Given the description of an element on the screen output the (x, y) to click on. 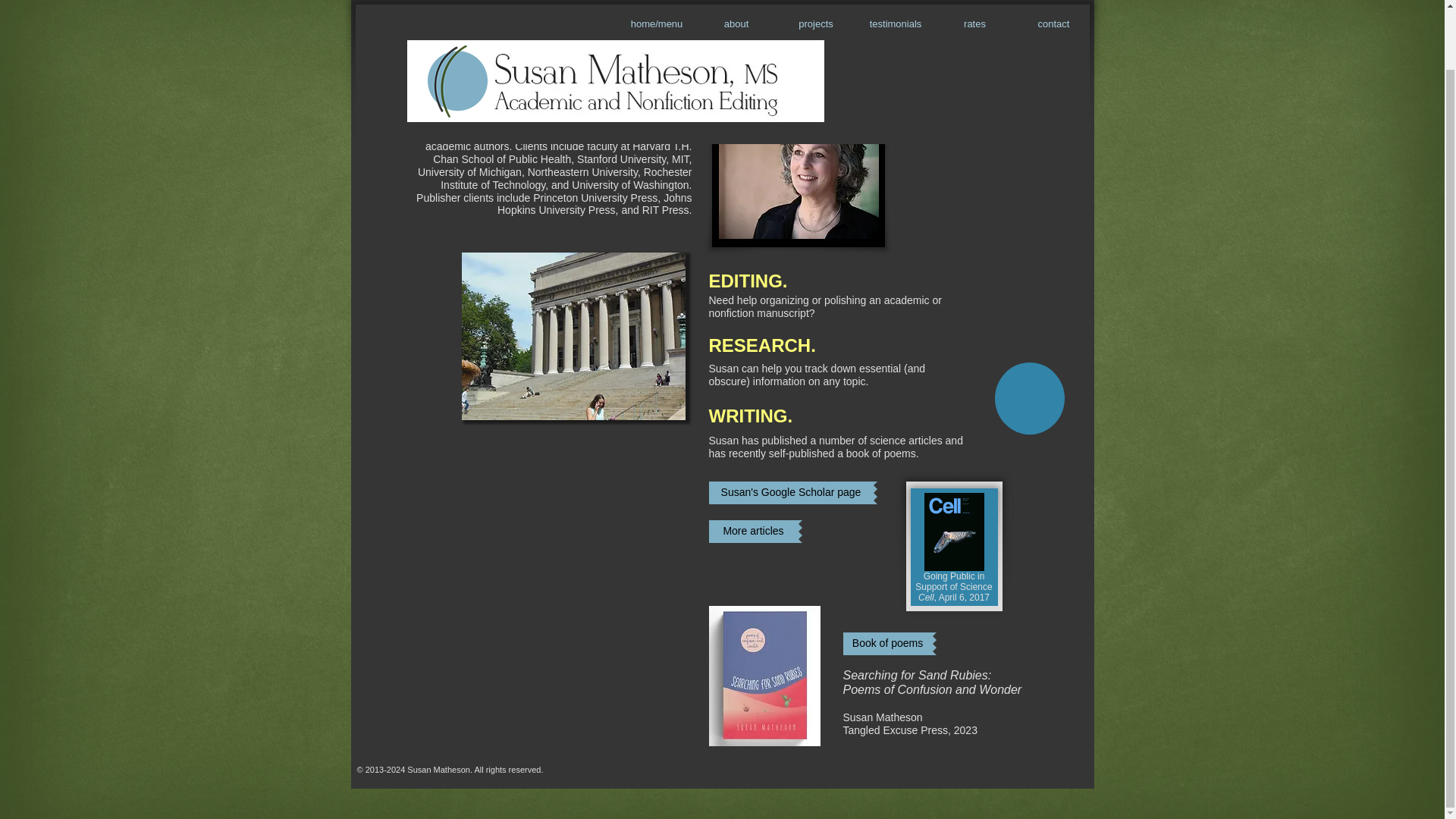
Book of poems (888, 643)
Support of Science (953, 586)
WRITING. (749, 412)
Susan Matheson, MS, Academic and Nonficton Editing (644, 28)
Susan Matheson (799, 173)
More articles (752, 531)
Going Public i (951, 575)
RESEARCH. (761, 341)
EDITING. (747, 277)
